Given the description of an element on the screen output the (x, y) to click on. 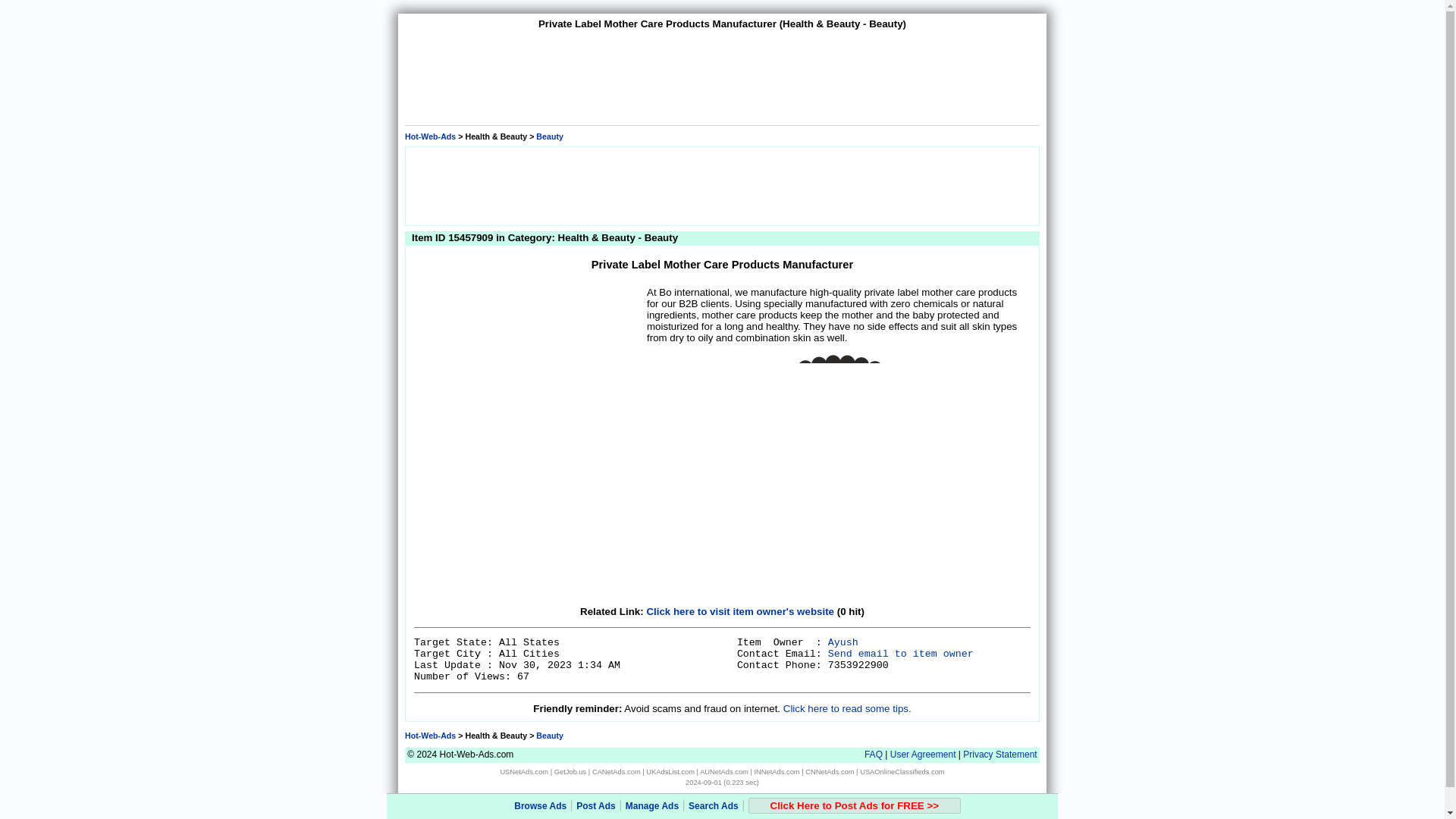
Browse Ads (539, 805)
Go Back to Hot-Web-Ads.com Home Page (429, 735)
INNetAds.com (776, 771)
Go Back to Hot-Web-Ads.com Home Page (429, 135)
Hot-Web-Ads (429, 735)
Privacy Statement (999, 754)
UKAdsList.com (670, 771)
AUNetAds.com (724, 771)
Beauty (549, 135)
Browse all items posted by this owner (843, 642)
